Given the description of an element on the screen output the (x, y) to click on. 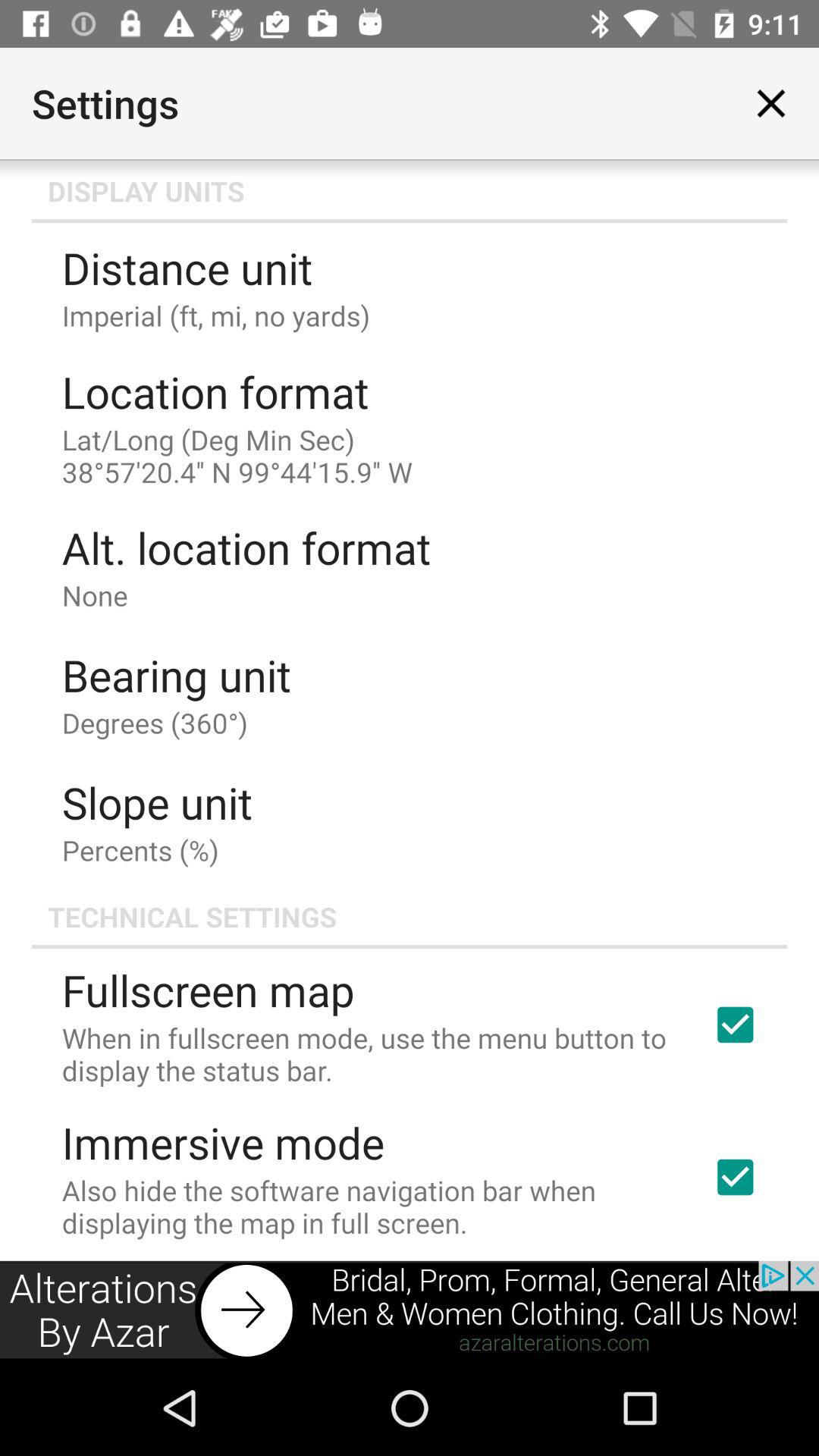
advertisement (409, 1310)
